Given the description of an element on the screen output the (x, y) to click on. 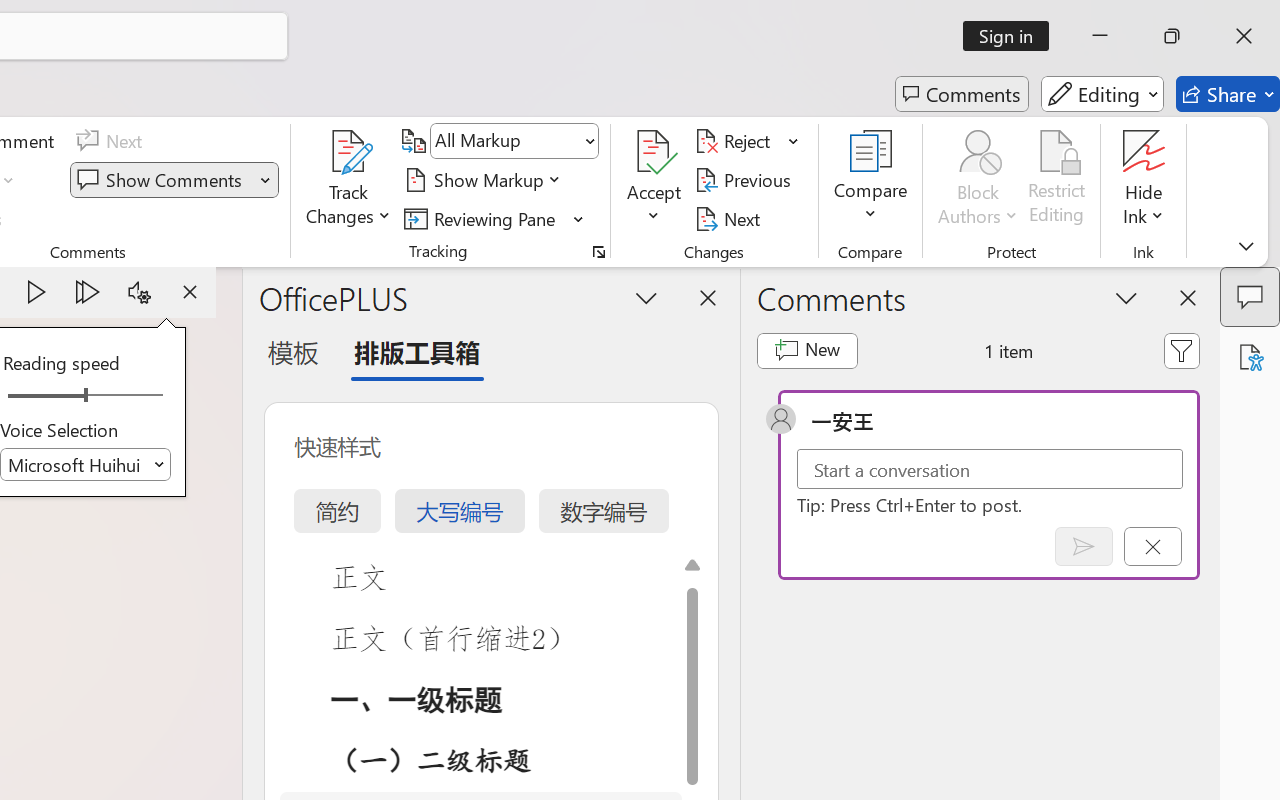
Editing (1101, 94)
Track Changes (349, 151)
Show Comments (162, 179)
Stop (190, 292)
Show Comments (174, 179)
Hide Ink (1144, 179)
Post comment (Ctrl + Enter) (1083, 546)
Restrict Editing (1057, 179)
Accessibility Assistant (1249, 357)
Reading speed (85, 396)
Compare (870, 179)
